Given the description of an element on the screen output the (x, y) to click on. 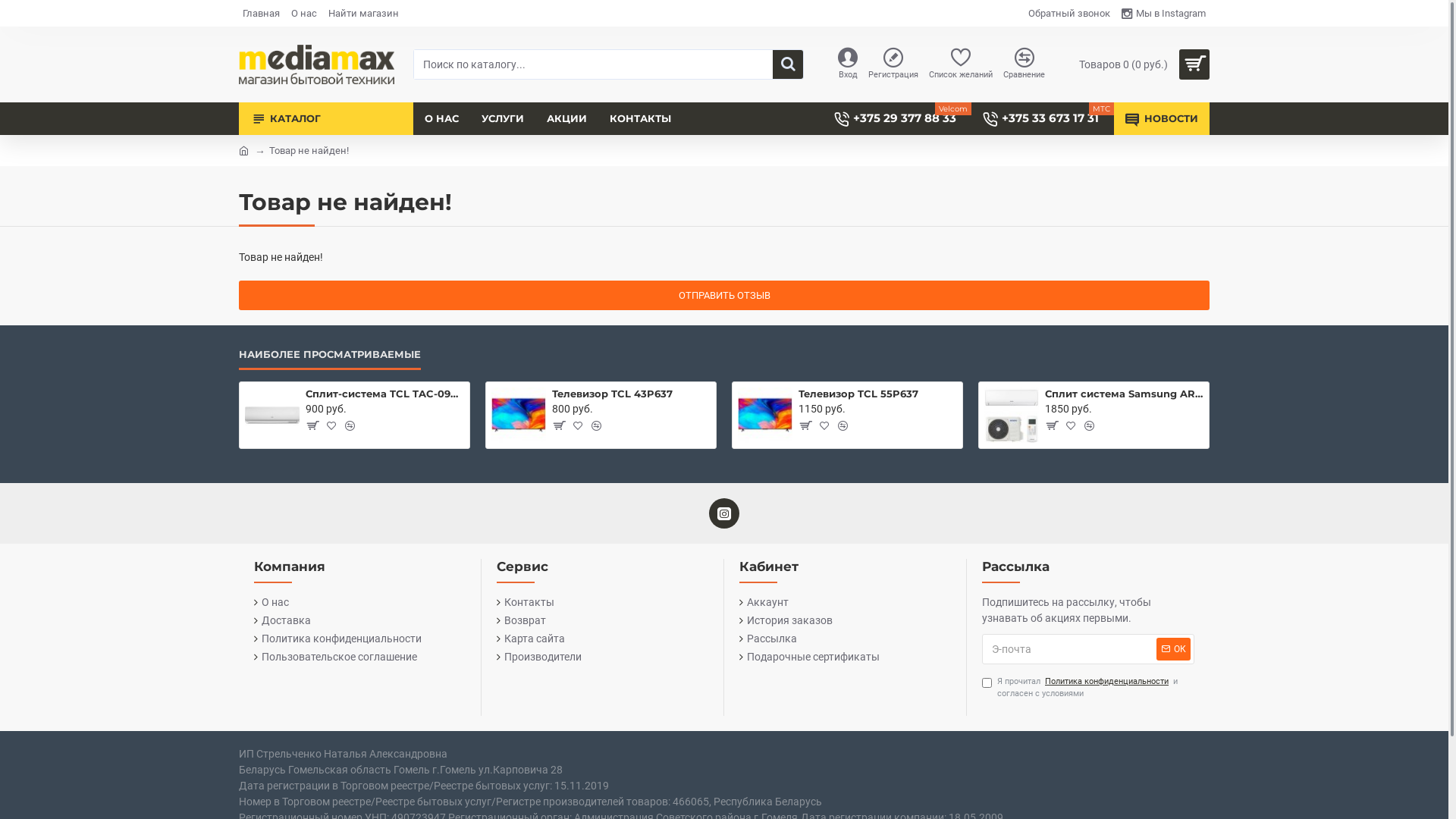
+375 29 377 88 33
Velcom Element type: text (896, 118)
MediaMax Element type: hover (316, 64)
